Given the description of an element on the screen output the (x, y) to click on. 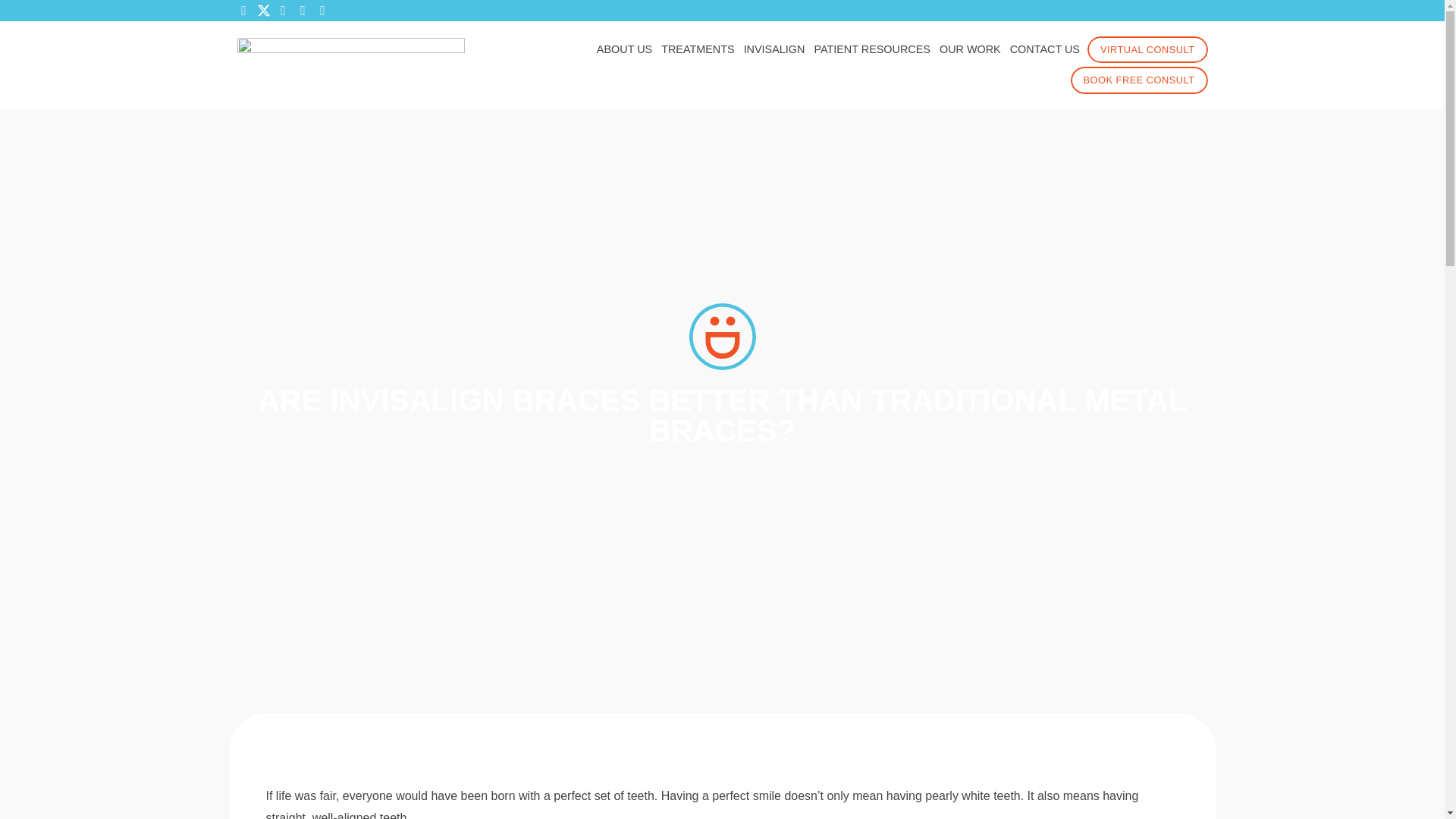
PATIENT RESOURCES (871, 49)
ABOUT US (624, 49)
TREATMENTS (698, 49)
INVISALIGN (774, 49)
